Given the description of an element on the screen output the (x, y) to click on. 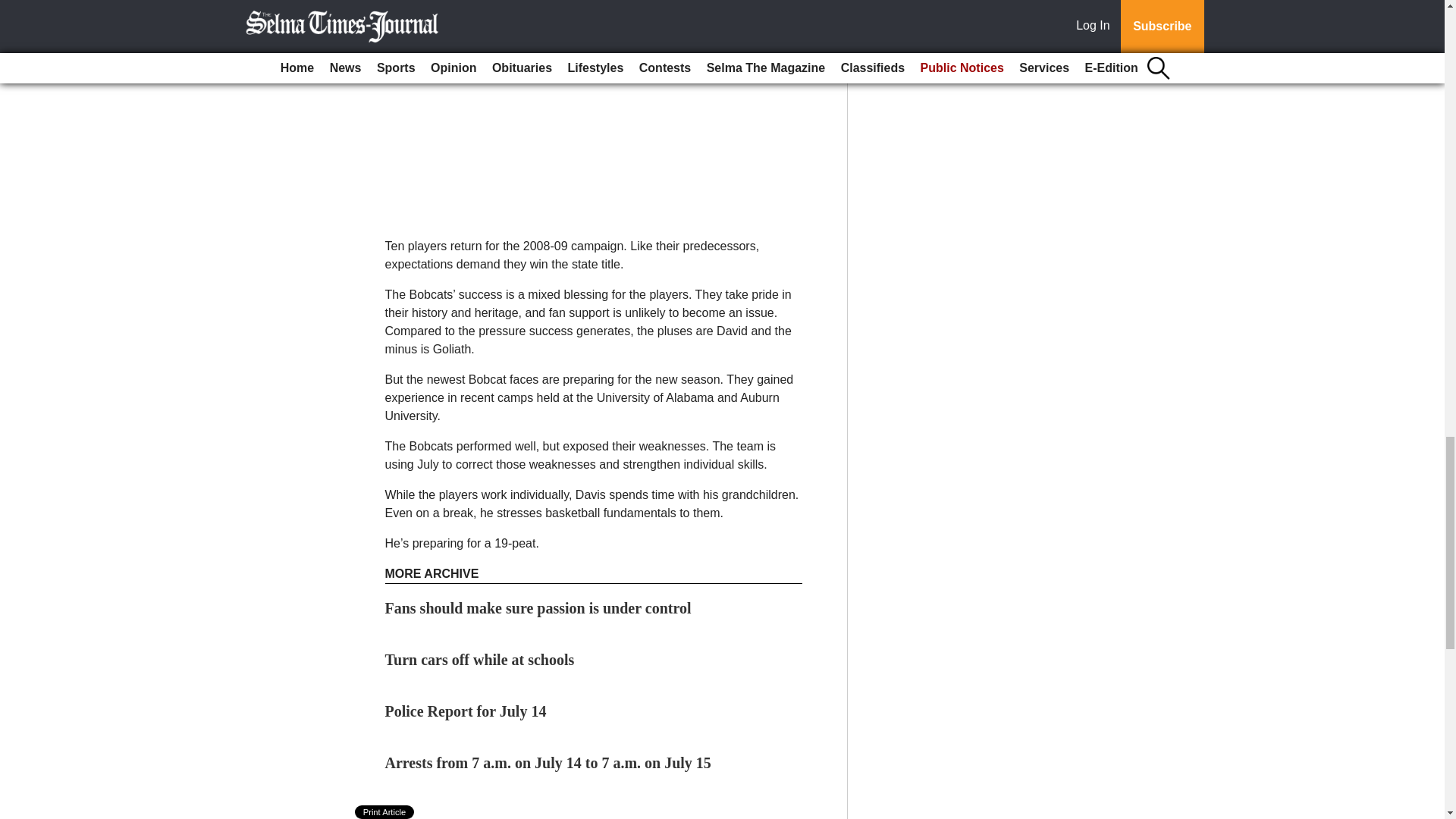
Print Article (384, 812)
Turn cars off while at schools (480, 659)
Fans should make sure passion is under control (538, 607)
Turn cars off while at schools (480, 659)
Arrests from 7 a.m. on July 14 to 7 a.m. on July 15 (548, 762)
Police Report for July 14 (466, 710)
Fans should make sure passion is under control (538, 607)
Police Report for July 14 (466, 710)
Arrests from 7 a.m. on July 14 to 7 a.m. on July 15 (548, 762)
